Given the description of an element on the screen output the (x, y) to click on. 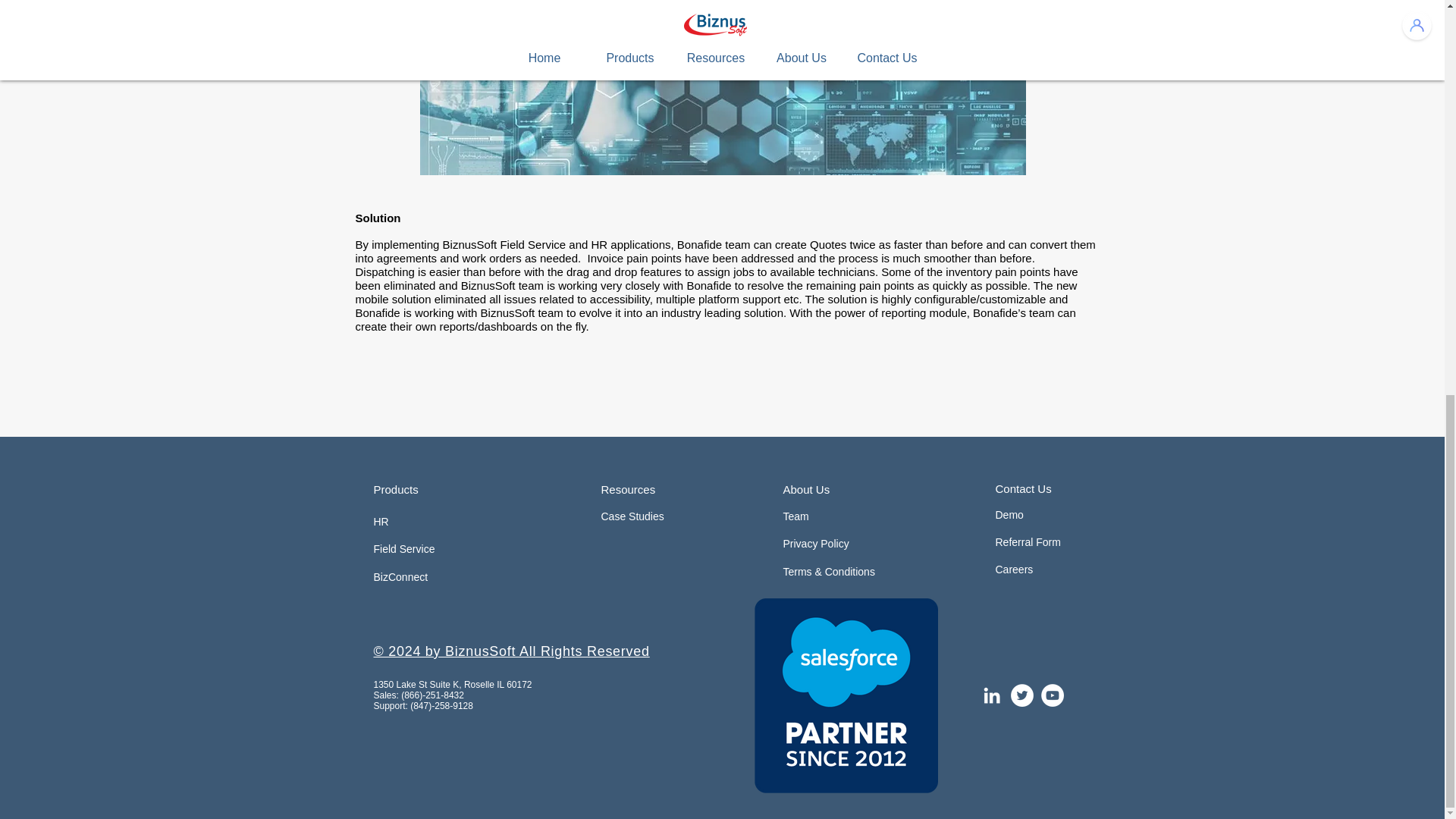
Resources (648, 488)
Careers (1013, 569)
About Us (827, 489)
Team (826, 516)
BizConnect (419, 577)
Demo (1021, 515)
Case Studies (643, 516)
Referral Form (1026, 542)
Products (421, 489)
HR (441, 521)
Privacy Policy (825, 543)
Field Service (415, 549)
